Given the description of an element on the screen output the (x, y) to click on. 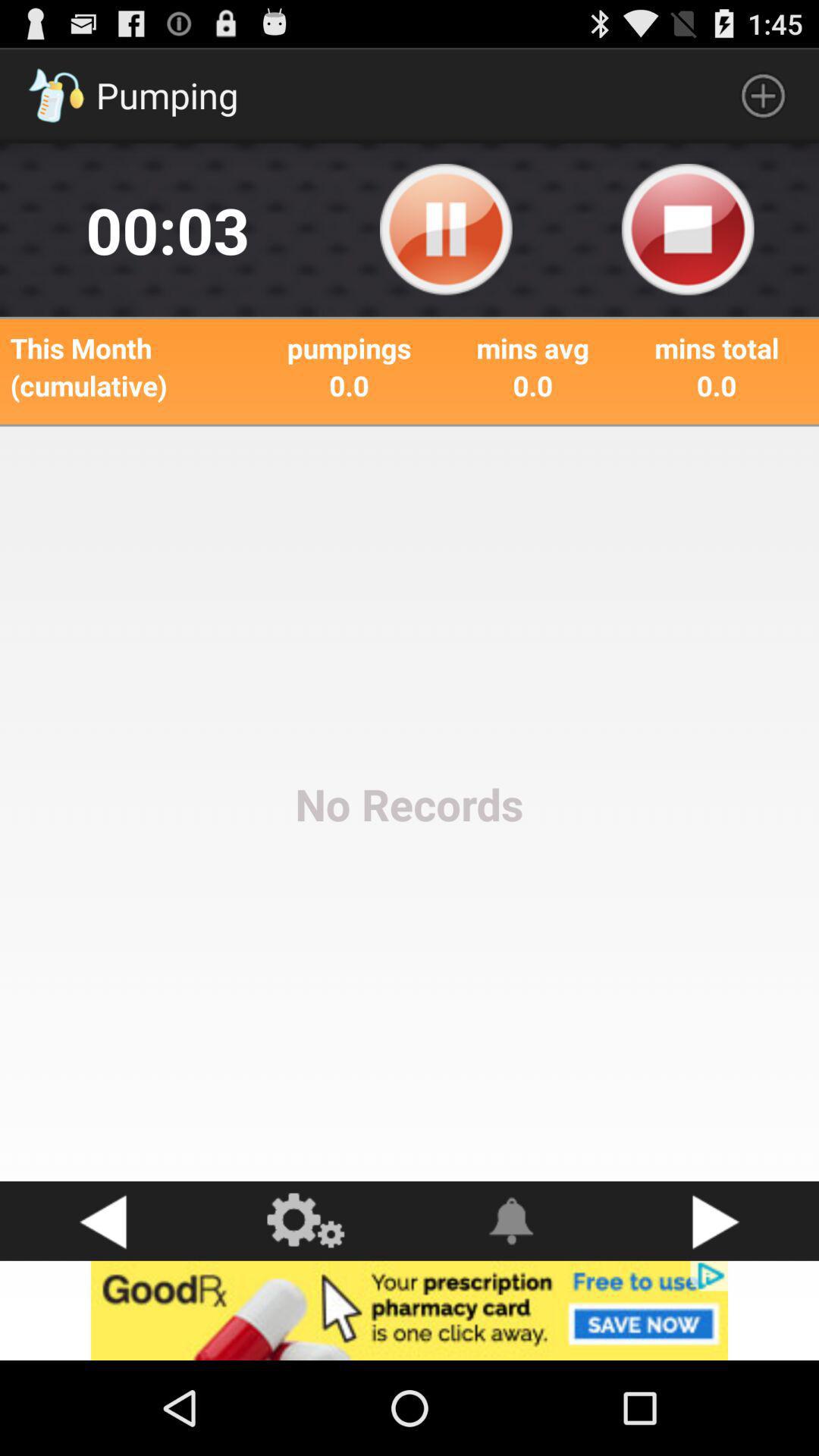
pause button (445, 229)
